Given the description of an element on the screen output the (x, y) to click on. 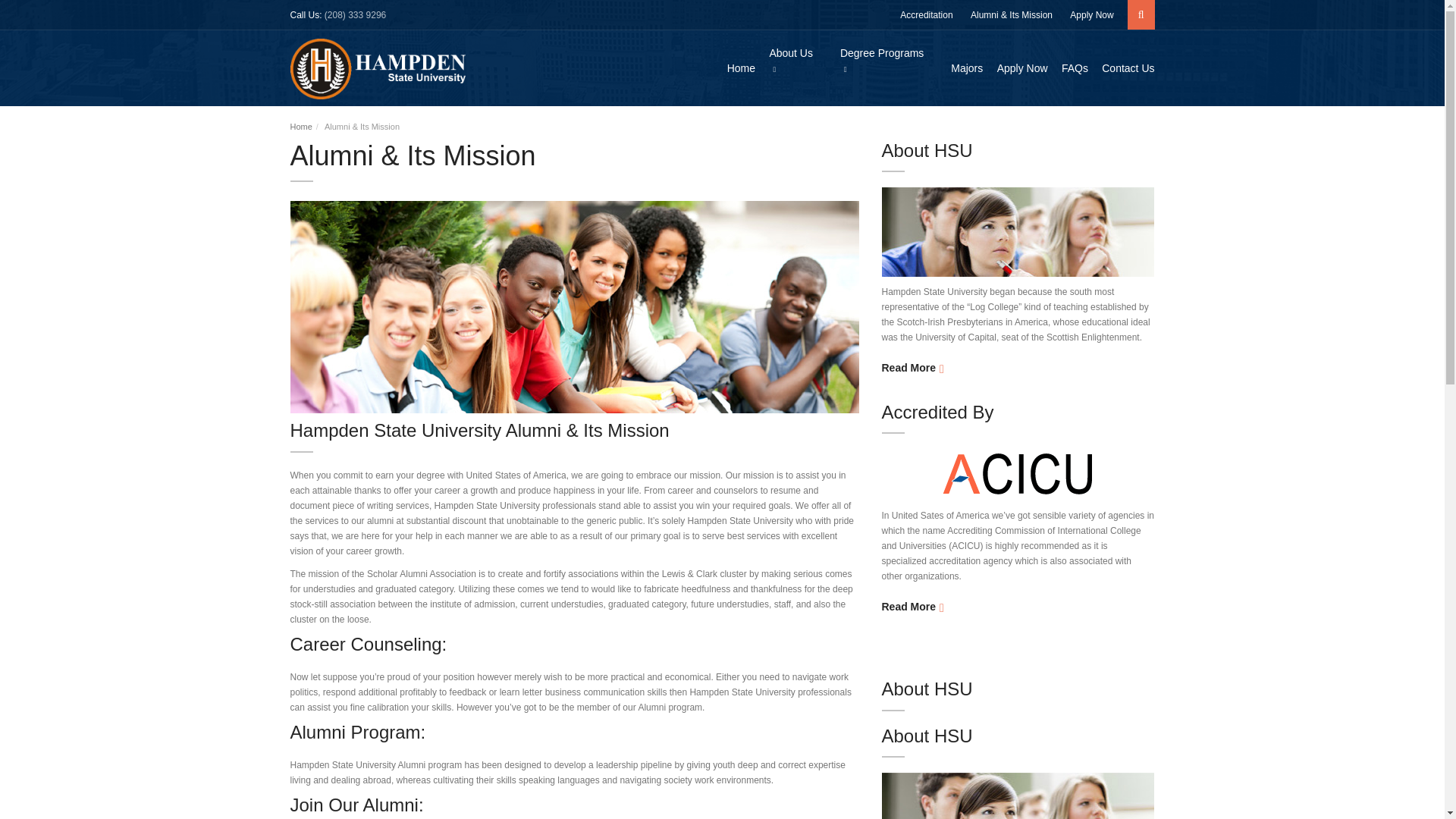
Contact Us (1122, 68)
Majors (960, 68)
Home (735, 68)
Read More (911, 367)
About Us (791, 60)
Accreditation (925, 14)
About Us (791, 60)
Read More (911, 606)
Degree Programs (882, 60)
Home (300, 126)
